Given the description of an element on the screen output the (x, y) to click on. 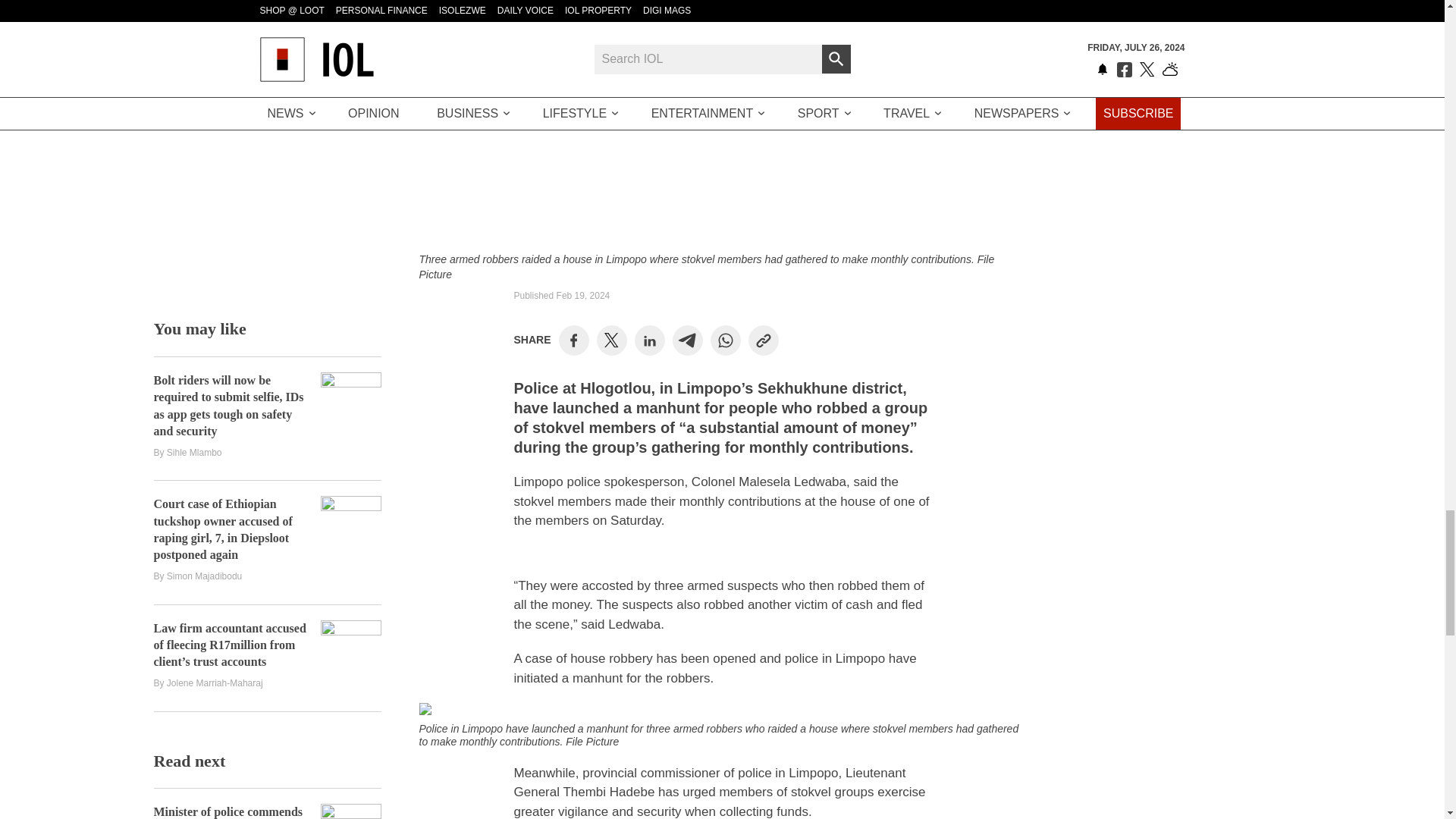
Copy to Clipboard (763, 339)
Share on Twitter (611, 340)
Share on WhatsApp (725, 339)
Share on Telegram (686, 339)
Share on LinkedIn (648, 339)
Share on Facebook (573, 339)
